Given the description of an element on the screen output the (x, y) to click on. 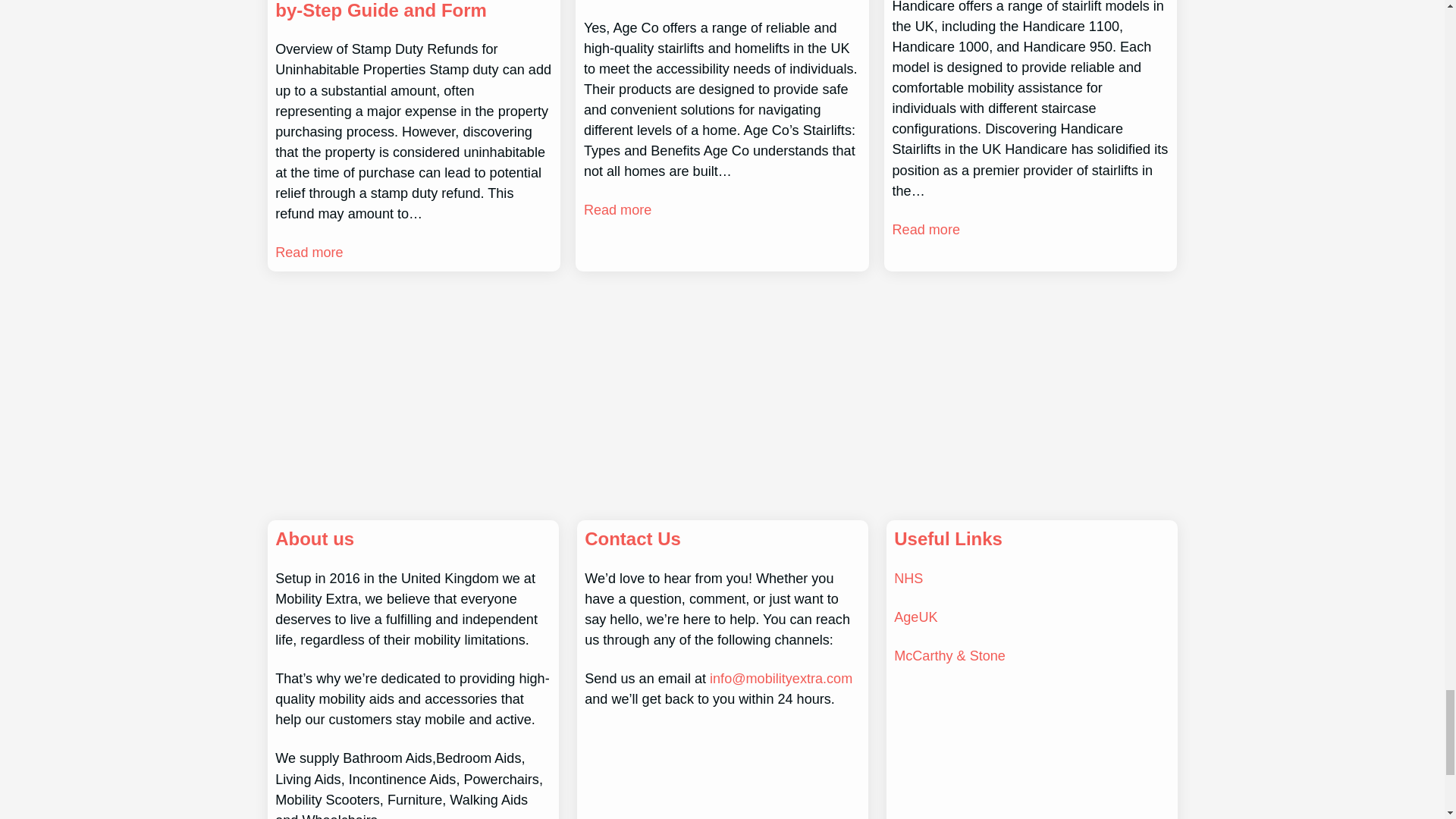
Read more (616, 209)
NHS (908, 578)
AgeUK (915, 616)
Read more (308, 252)
Read more (925, 230)
